Given the description of an element on the screen output the (x, y) to click on. 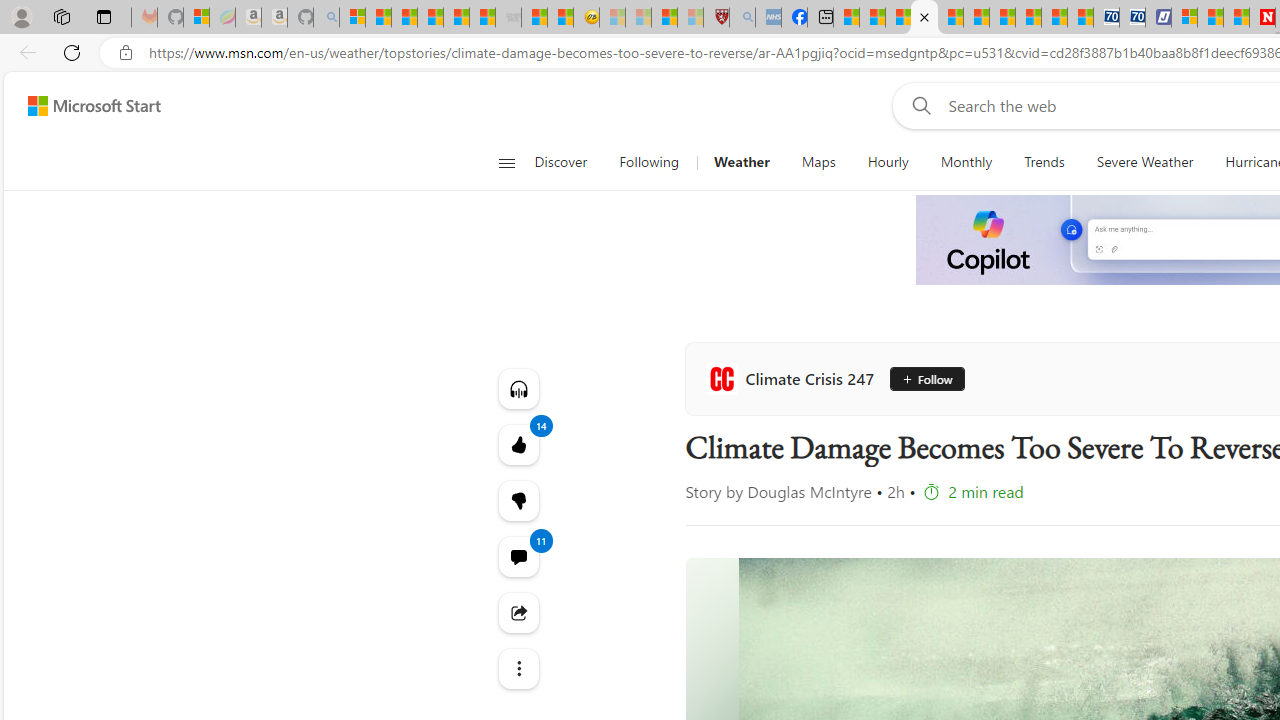
View comments 11 Comment (517, 556)
Robert H. Shmerling, MD - Harvard Health (716, 17)
Class: at-item (517, 668)
Hourly (888, 162)
Climate Crisis 247 (793, 378)
Severe Weather (1144, 162)
The Weather Channel - MSN (404, 17)
